Given the description of an element on the screen output the (x, y) to click on. 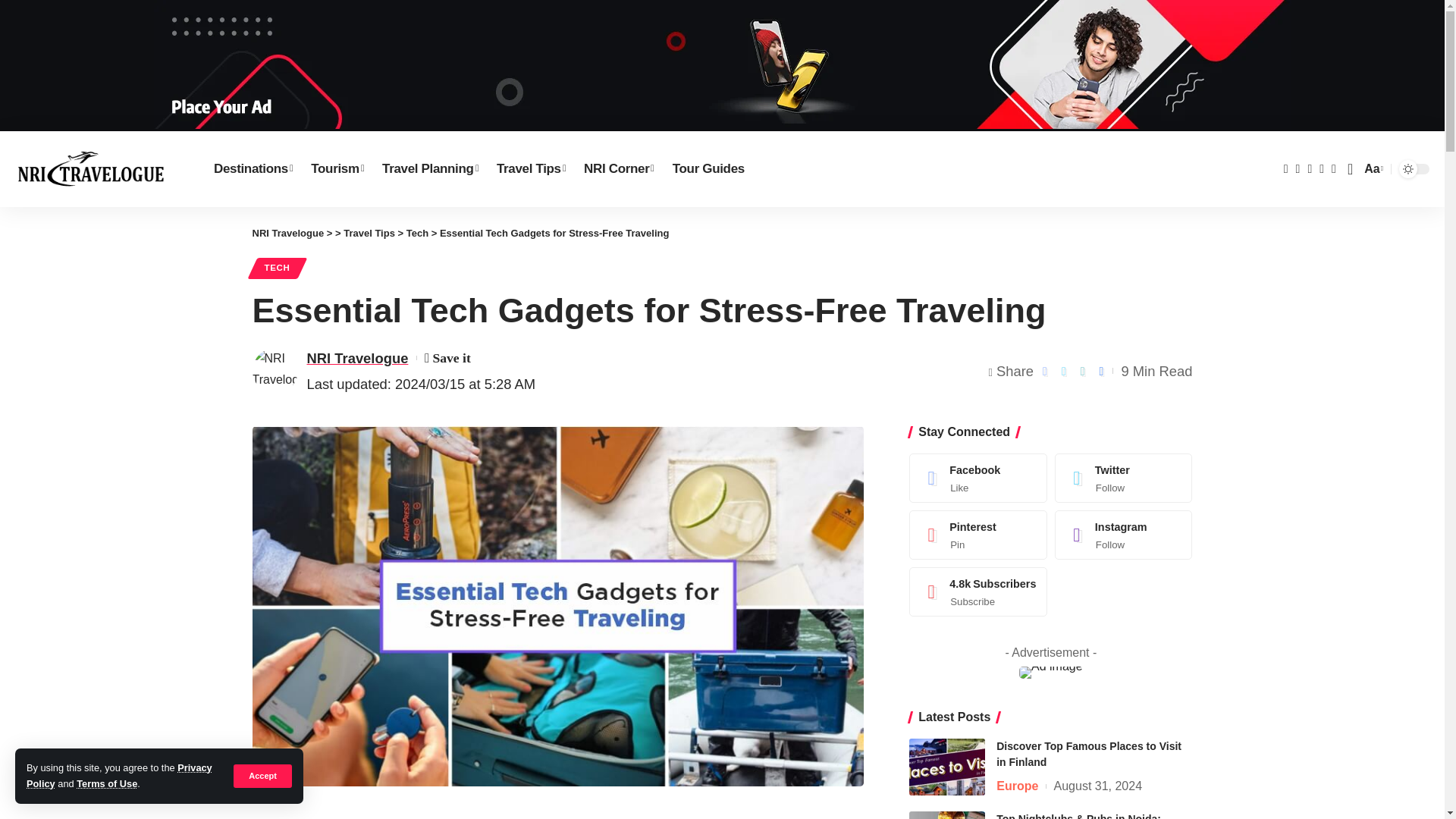
Privacy Policy (119, 775)
Go to the Tech Category archives. (417, 233)
Go to NRI Travelogue. (287, 233)
Discover Top Famous Places to Visit in Finland (946, 766)
NRI Travelogue (90, 168)
Terms of Use (106, 783)
Go to the Travel Tips Category archives. (368, 233)
Destinations (253, 168)
Accept (262, 775)
